Given the description of an element on the screen output the (x, y) to click on. 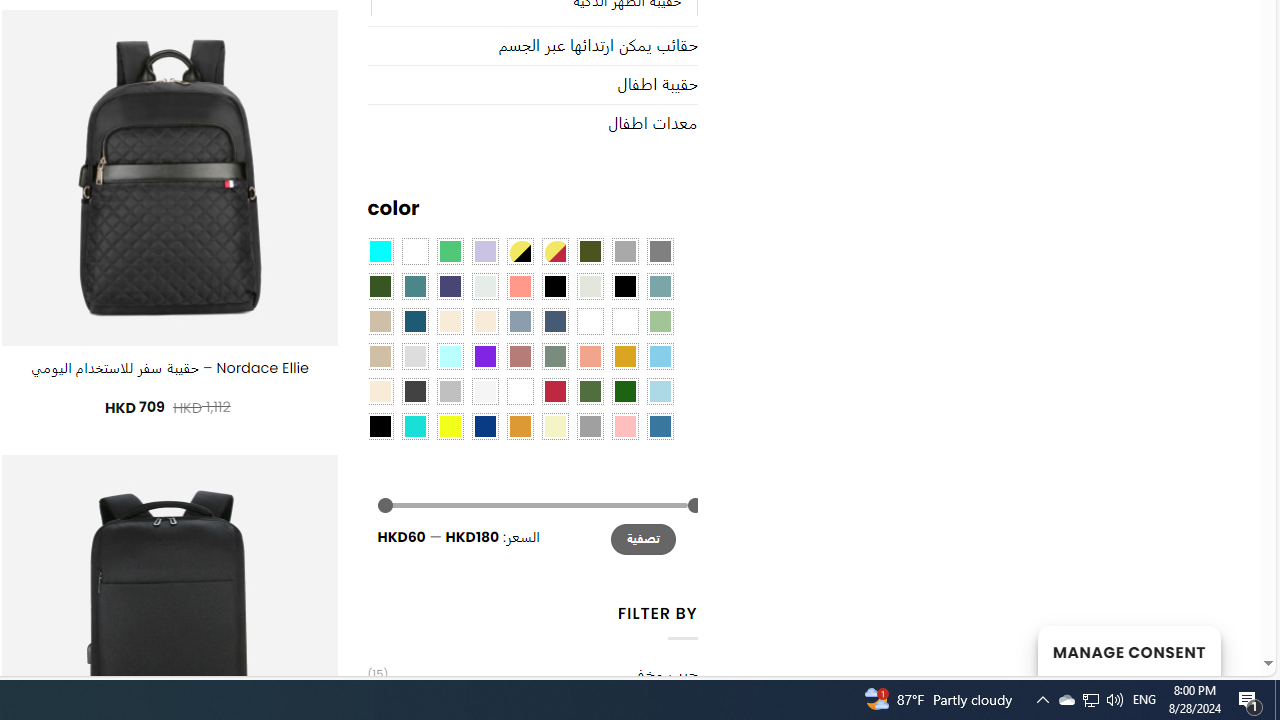
Rose (519, 355)
Dusty Blue (519, 321)
Aqua Blue (379, 251)
Cream (484, 321)
Yellow-Red (554, 251)
Kelp (589, 321)
Sage (554, 355)
Light-Gray (414, 355)
Black-Brown (624, 285)
Capri Blue (414, 321)
Hale Navy (554, 321)
